Given the description of an element on the screen output the (x, y) to click on. 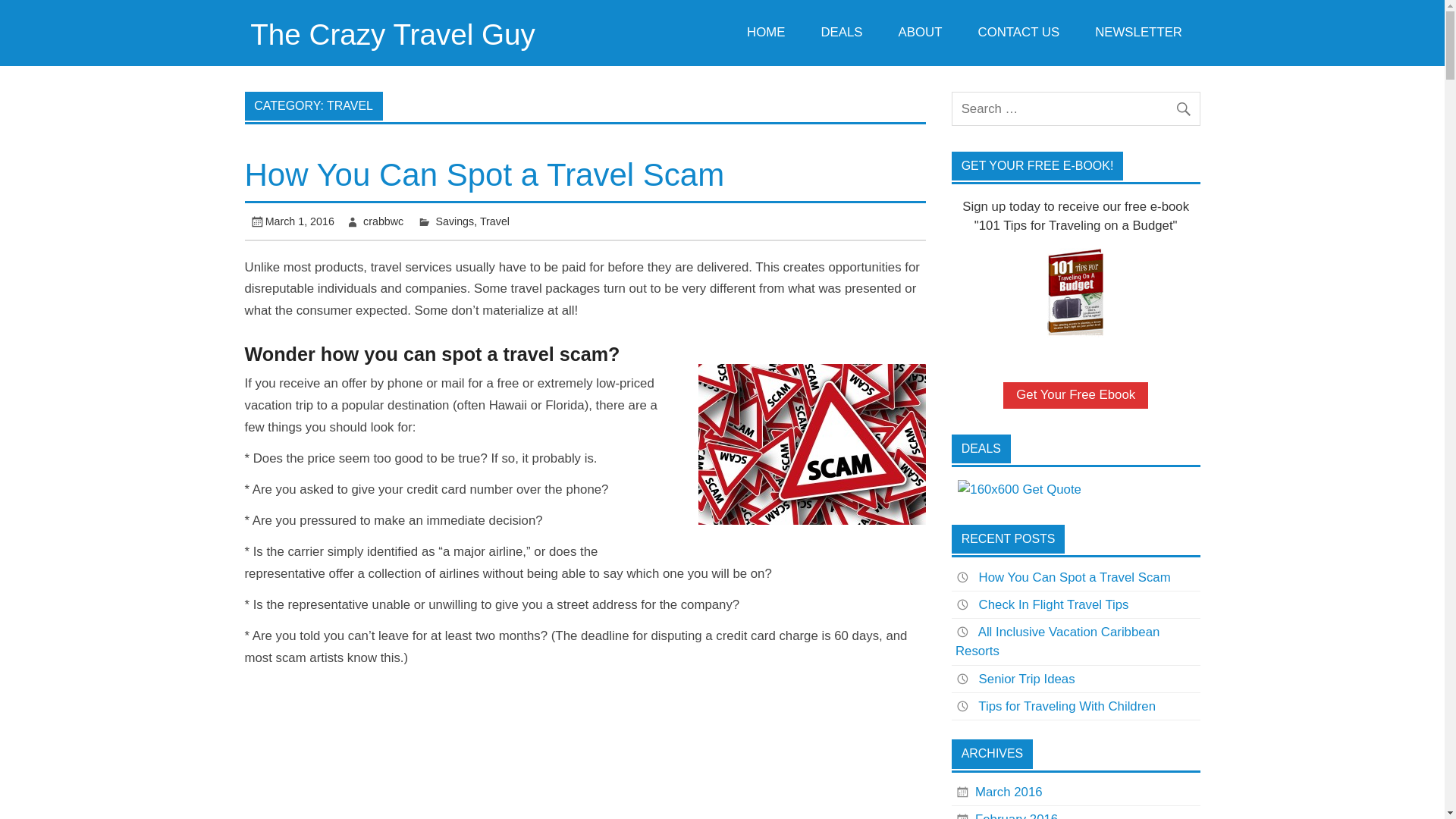
Savings (454, 221)
CONTACT US (1018, 33)
Travel (494, 221)
5:46 pm (299, 221)
March 1, 2016 (299, 221)
NEWSLETTER (1138, 33)
The Crazy Travel Guy (392, 34)
How You Can Spot a Travel Scam (483, 174)
DEALS (841, 33)
crabbwc (382, 221)
